Given the description of an element on the screen output the (x, y) to click on. 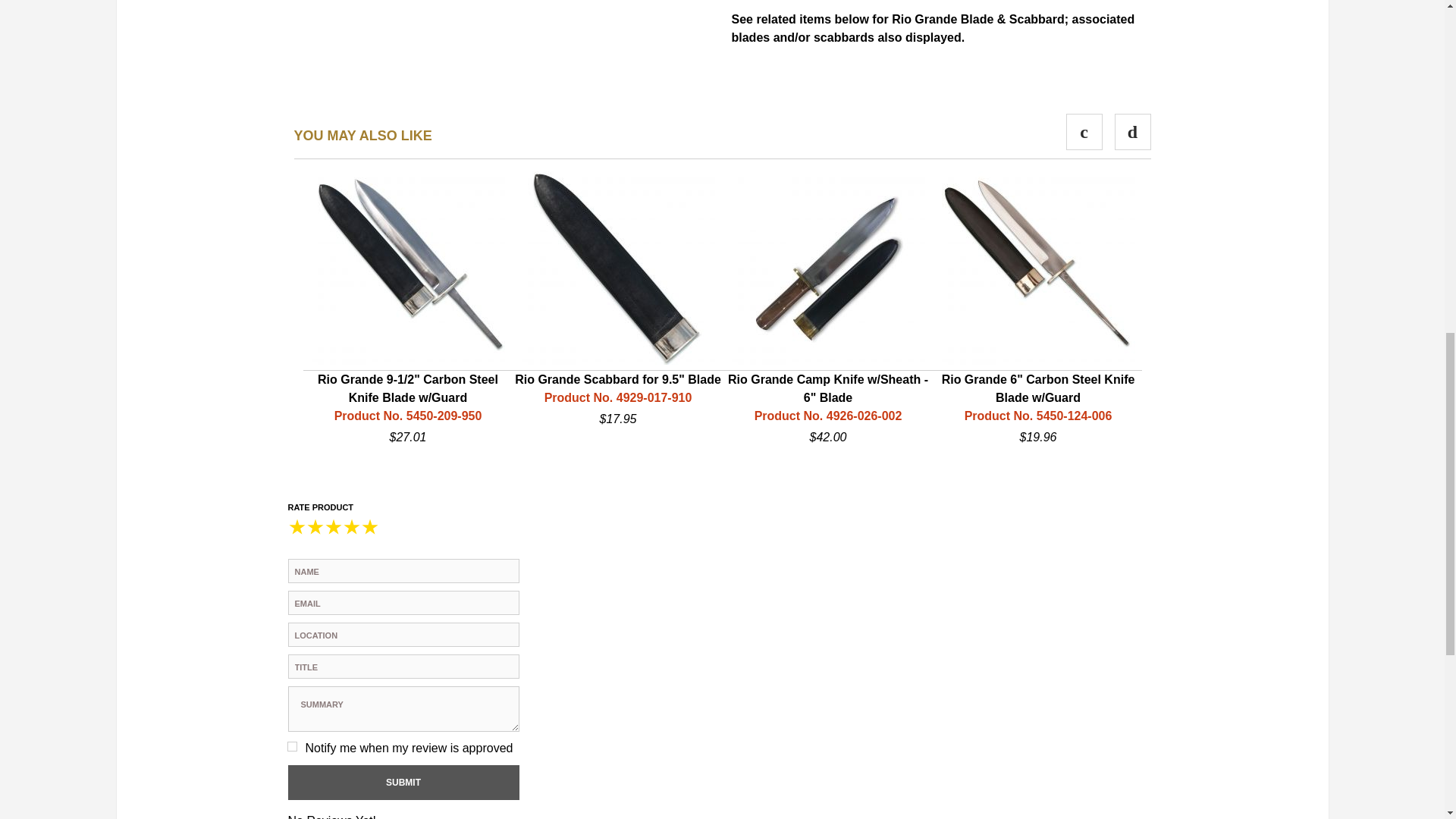
Submit (403, 782)
